Given the description of an element on the screen output the (x, y) to click on. 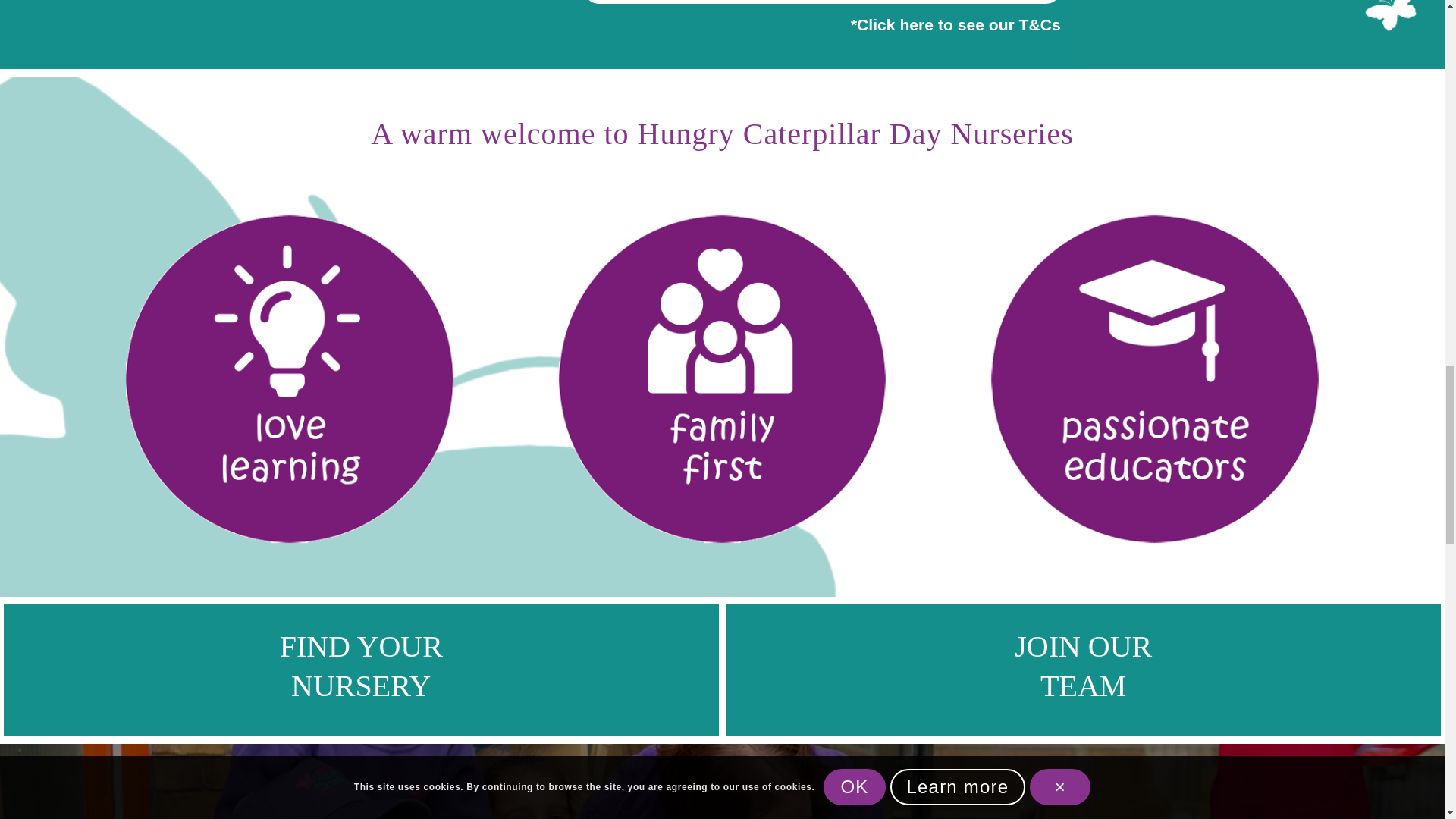
passionate-educators-8 NEW (1155, 378)
family-first-b-8 (722, 378)
love-learning-8 NEW (289, 378)
